Given the description of an element on the screen output the (x, y) to click on. 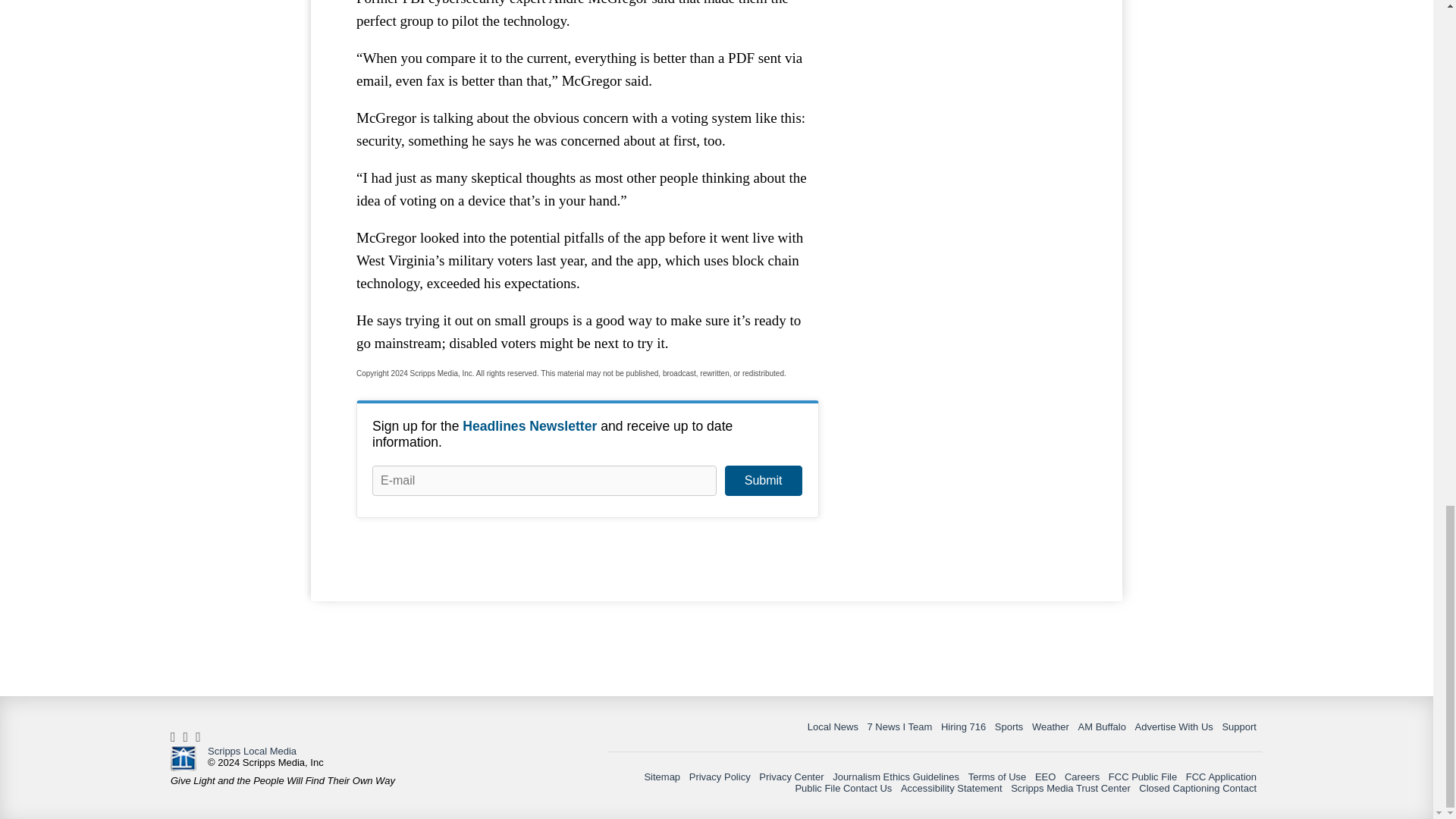
Submit (763, 481)
